Given the description of an element on the screen output the (x, y) to click on. 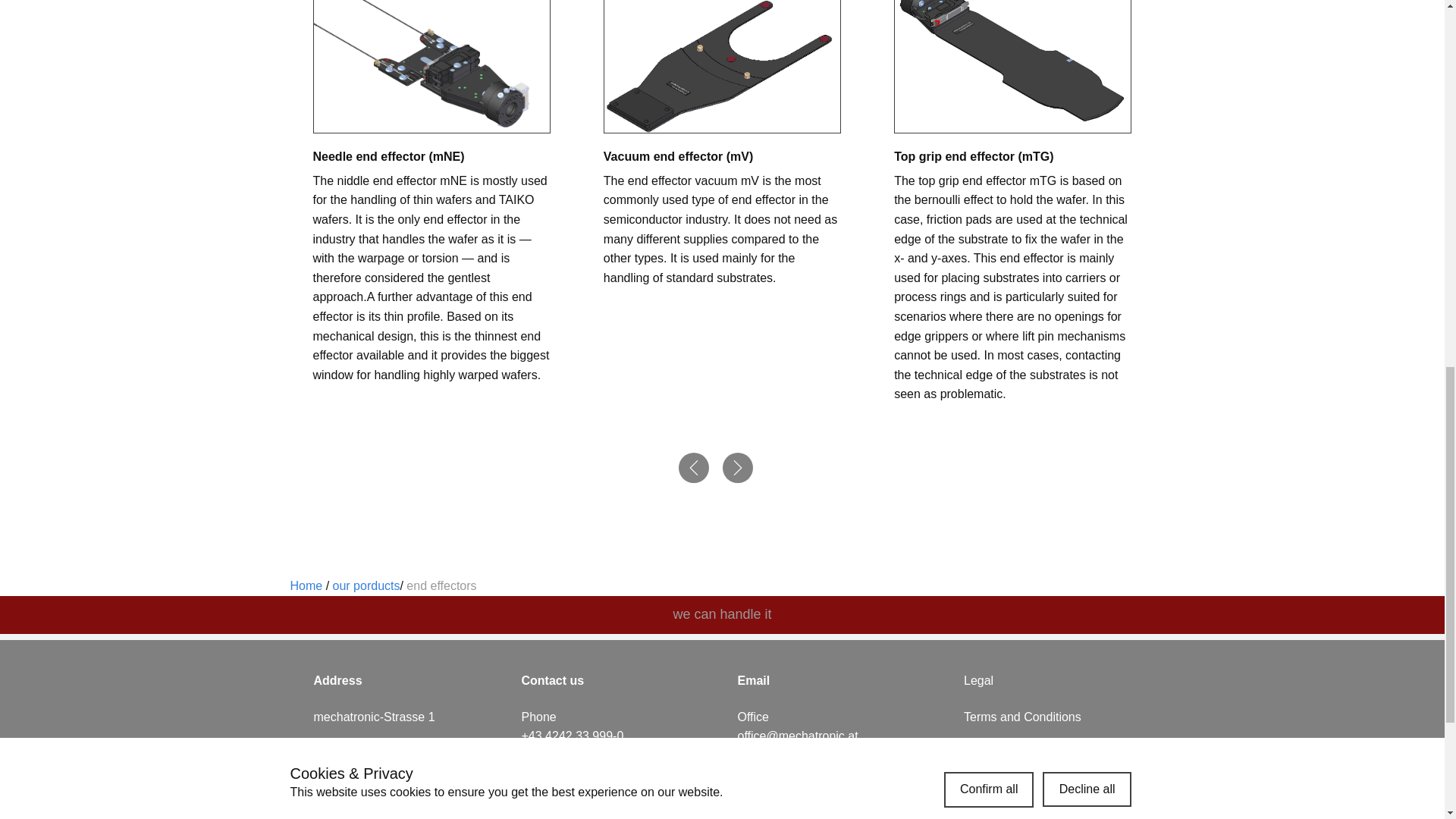
Terms and Conditions (1022, 716)
Imprint  (983, 793)
Home (305, 585)
our porducts (366, 585)
Data Protection Statement (1034, 755)
